Given the description of an element on the screen output the (x, y) to click on. 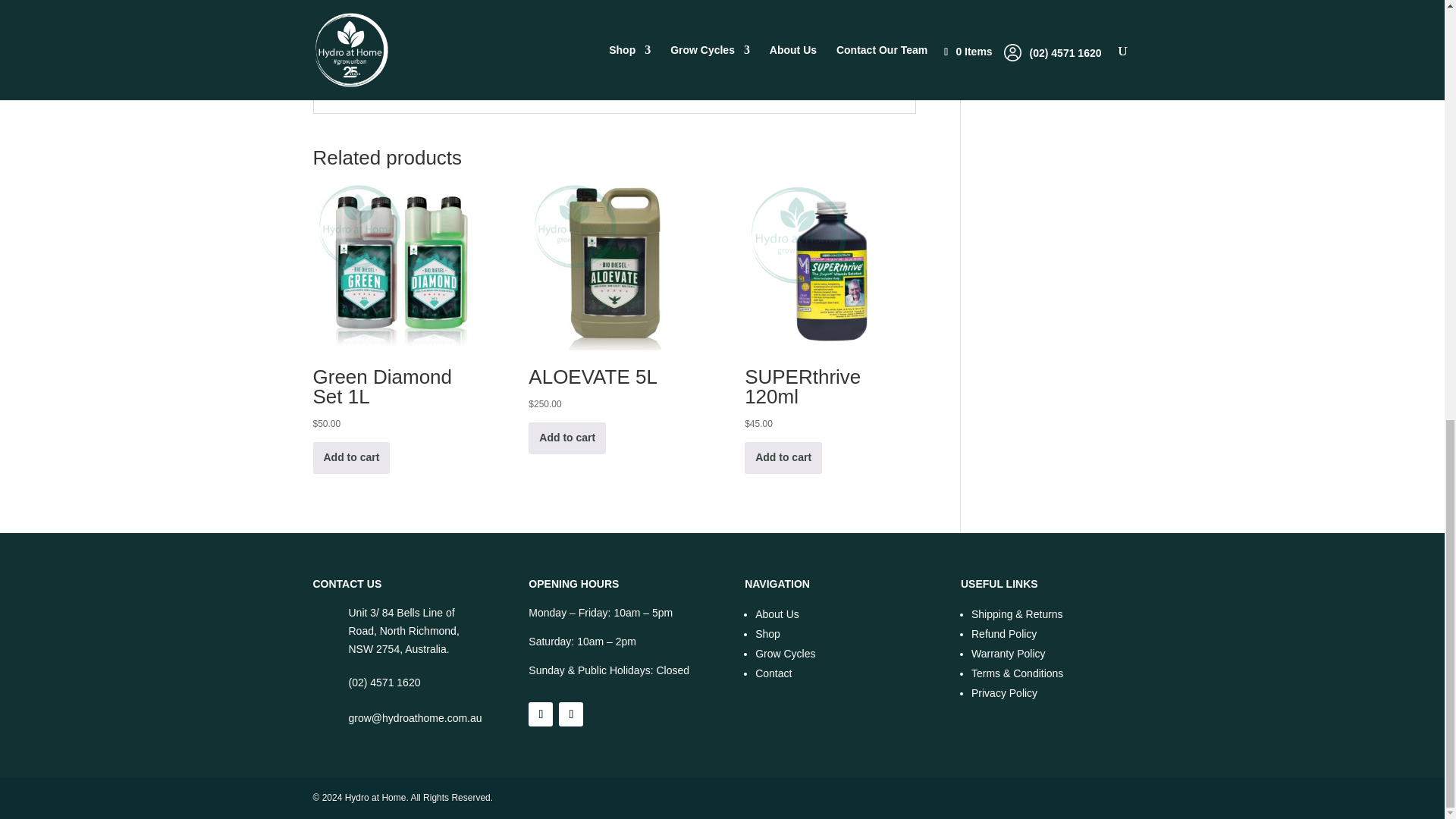
Follow on Instagram (571, 713)
Follow on Facebook (540, 713)
